Given the description of an element on the screen output the (x, y) to click on. 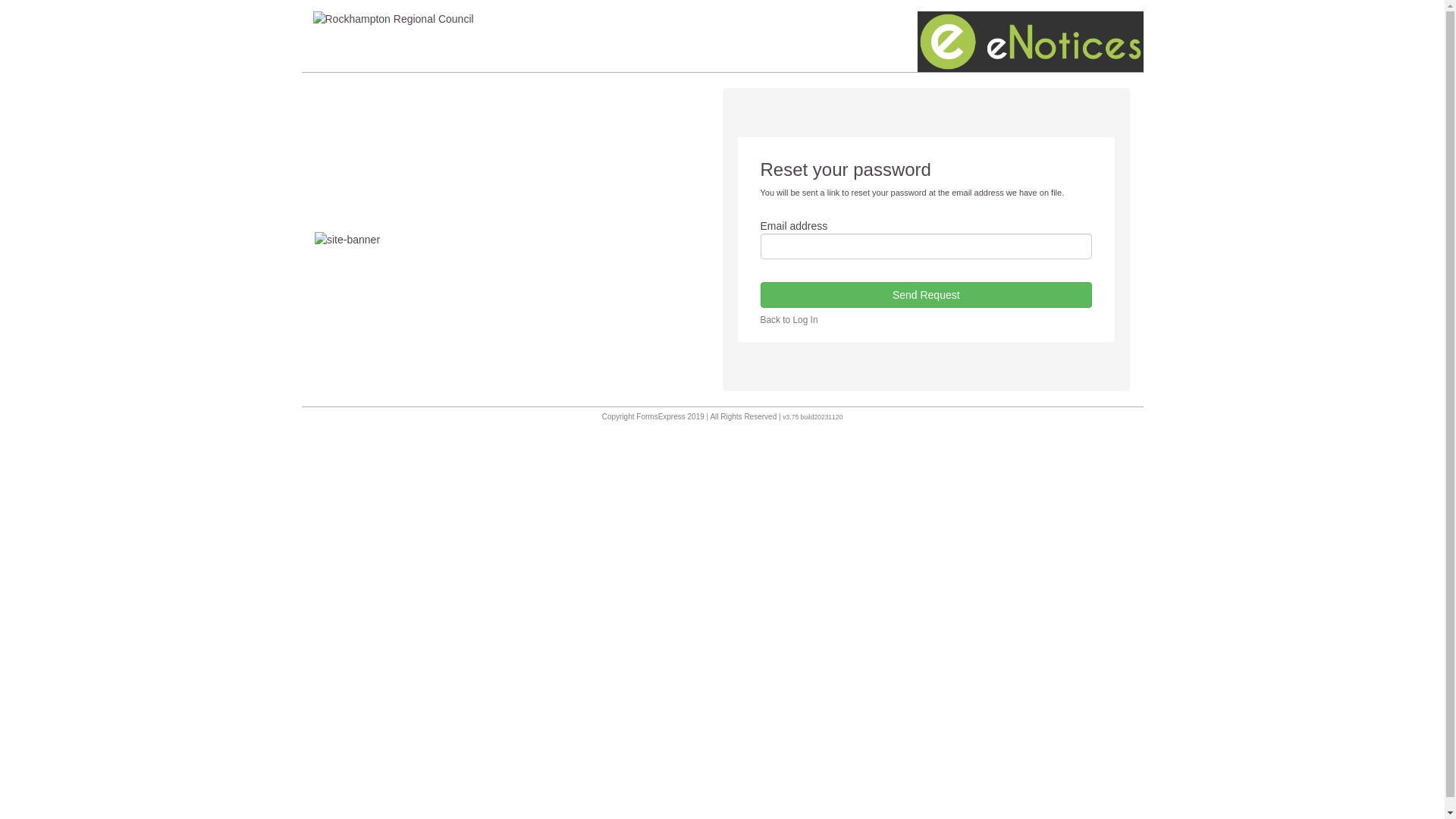
Back to Log In Element type: text (788, 319)
Send Request Element type: text (925, 294)
